Given the description of an element on the screen output the (x, y) to click on. 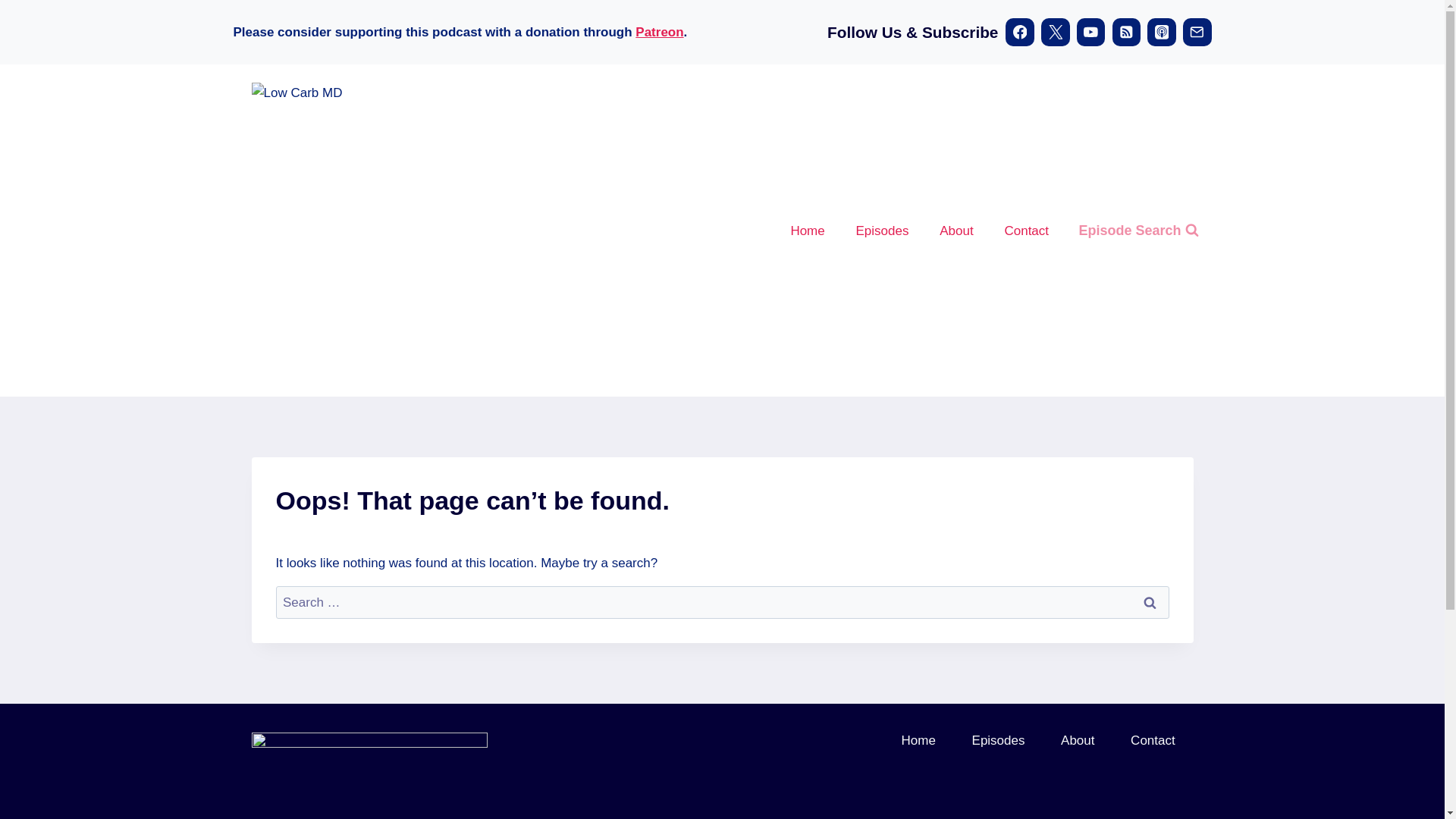
Search (1150, 602)
Patreon (658, 32)
Contact (1152, 740)
Episodes (998, 740)
Search (1150, 602)
Home (918, 740)
About (1077, 740)
Search (1150, 602)
Episodes (882, 230)
Home (807, 230)
